Given the description of an element on the screen output the (x, y) to click on. 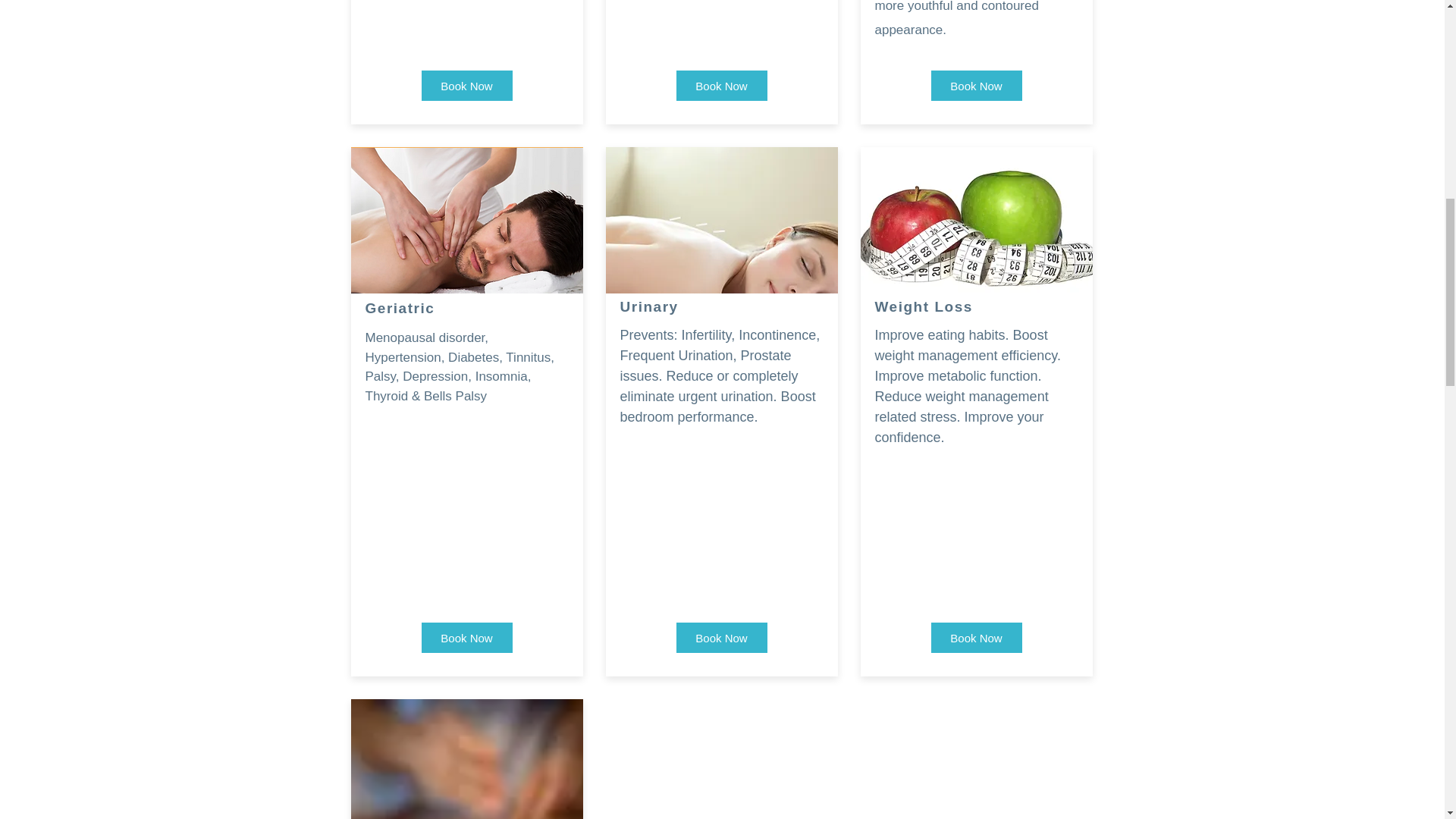
Book Now (976, 85)
Book Now (722, 637)
Book Now (467, 85)
Book Now (467, 637)
Book Now (976, 637)
Book Now (722, 85)
